Given the description of an element on the screen output the (x, y) to click on. 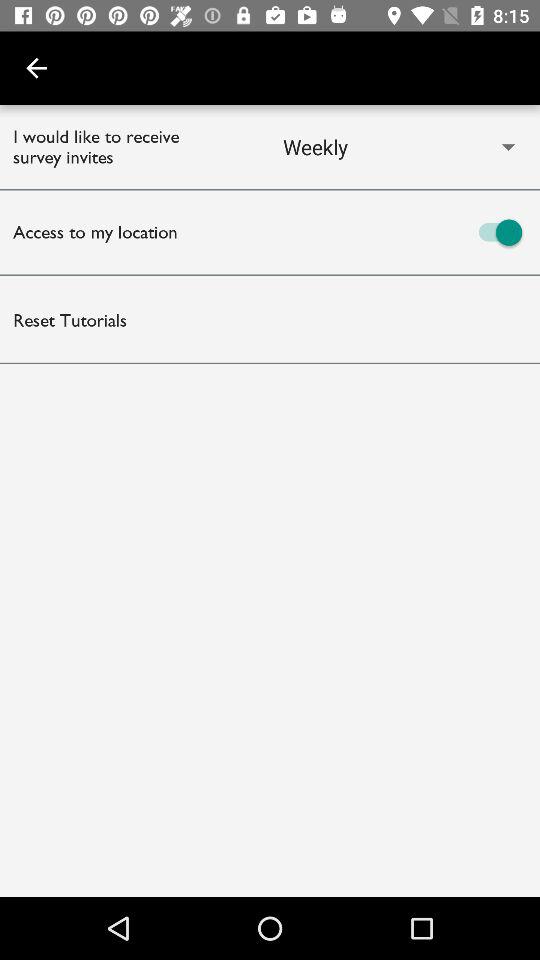
click the my location (405, 232)
